Given the description of an element on the screen output the (x, y) to click on. 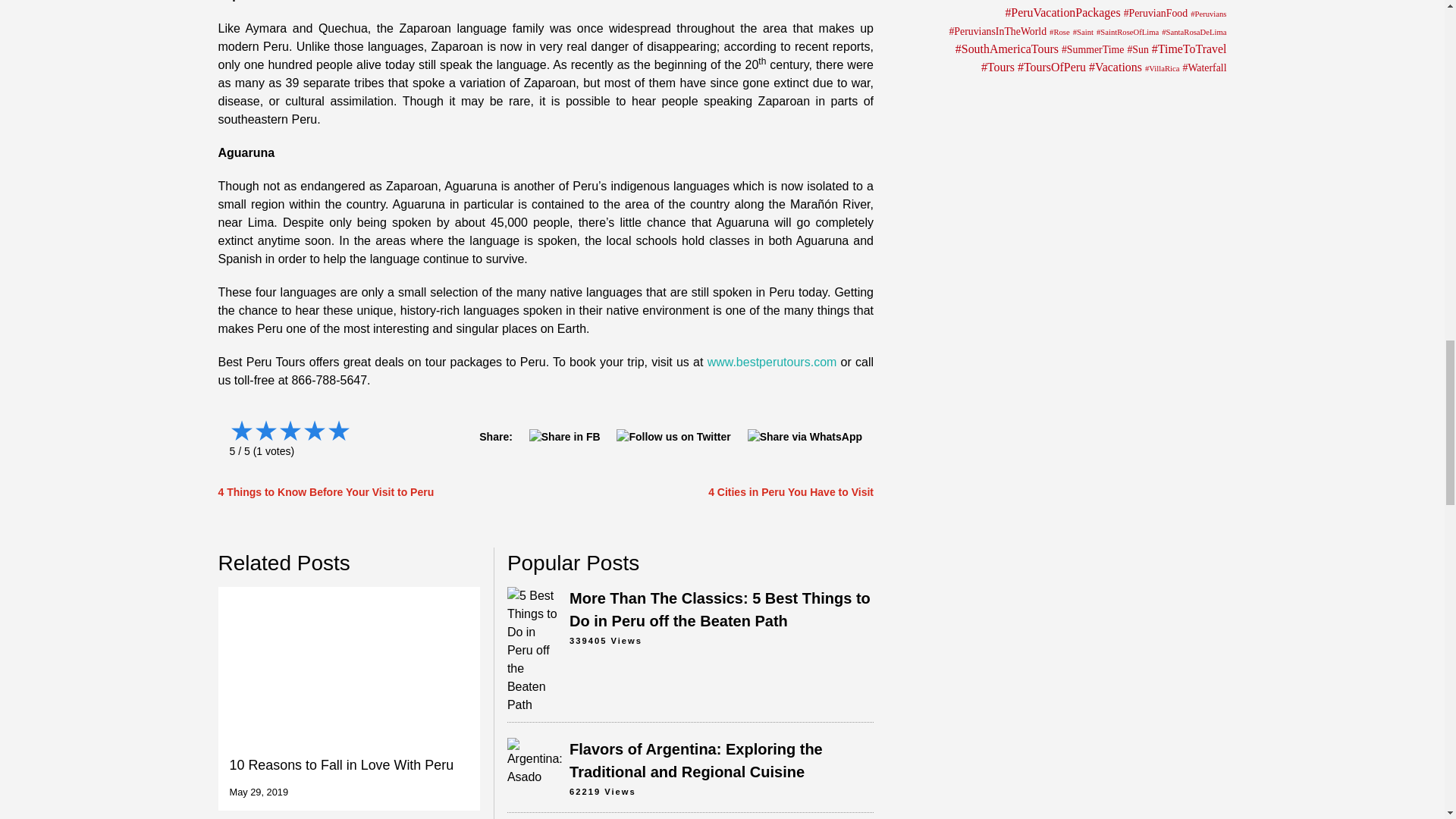
10 Reasons to Fall in Love With Peru (349, 698)
